Given the description of an element on the screen output the (x, y) to click on. 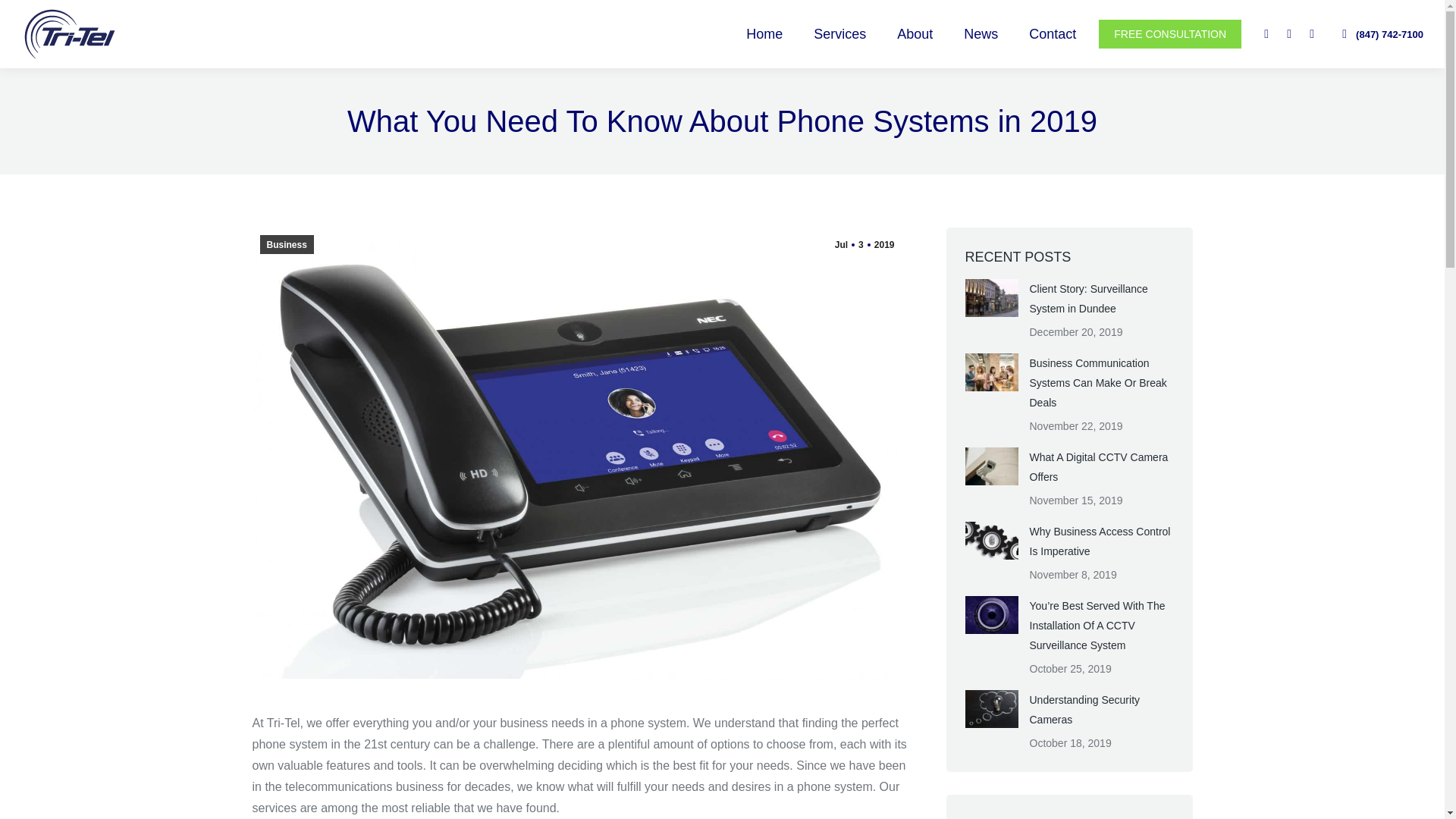
Mail page opens in new window (1311, 34)
Linkedin page opens in new window (1288, 34)
Facebook page opens in new window (1266, 34)
Home (763, 33)
Mail page opens in new window (1311, 34)
Linkedin page opens in new window (1288, 34)
Contact (1051, 33)
About (914, 33)
7:28 pm (864, 244)
FREE CONSULTATION (1170, 33)
News (981, 33)
Services (838, 33)
Facebook page opens in new window (1266, 34)
